Given the description of an element on the screen output the (x, y) to click on. 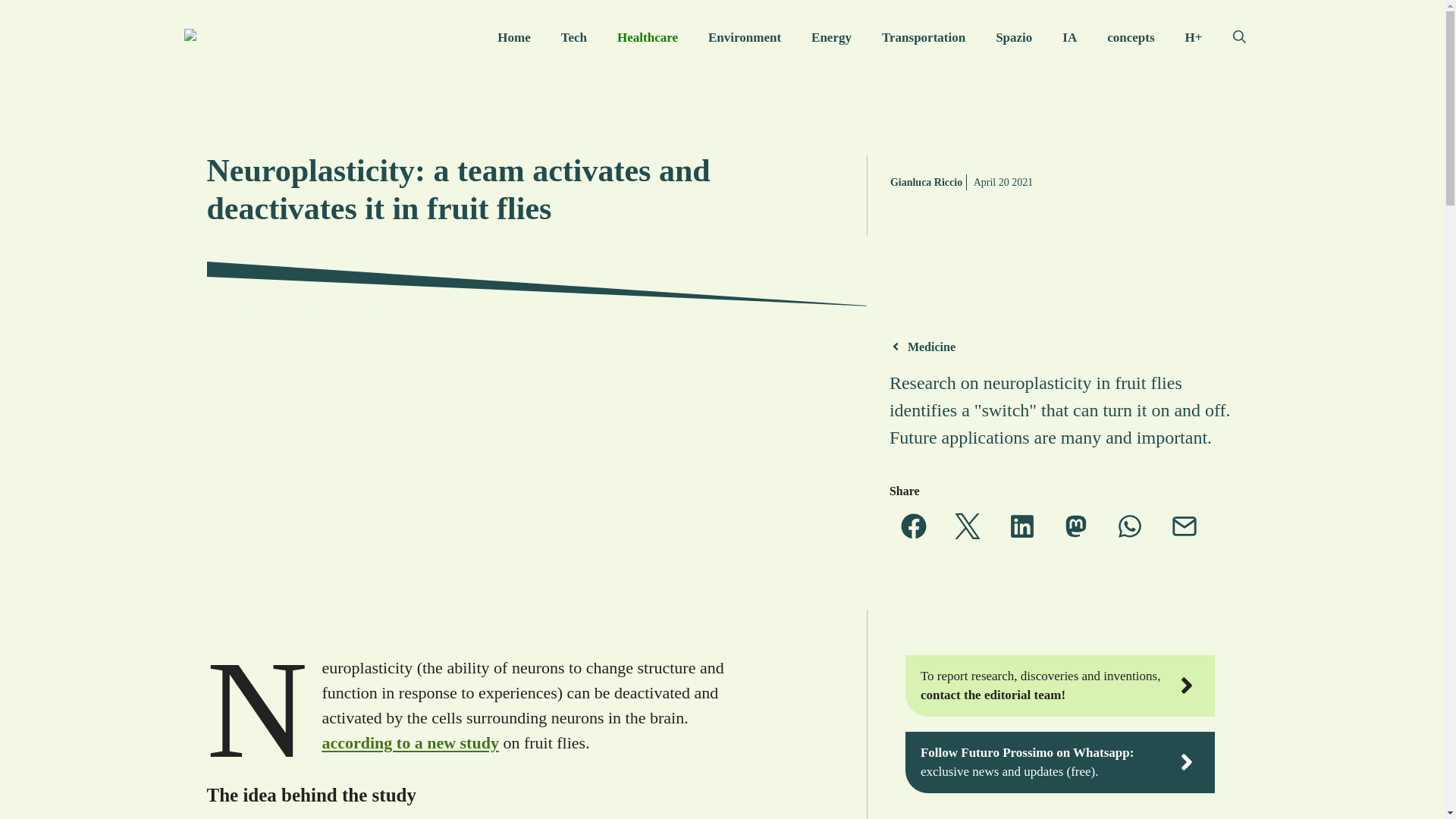
Transportation (922, 37)
concepts (1130, 37)
Healthcare (647, 37)
Gianluca Riccio (925, 182)
Medicine (931, 346)
Home (512, 37)
Energy (831, 37)
IA (1069, 37)
Spazio (1012, 37)
according to a new study (409, 742)
Environment (744, 37)
Tech (574, 37)
